Given the description of an element on the screen output the (x, y) to click on. 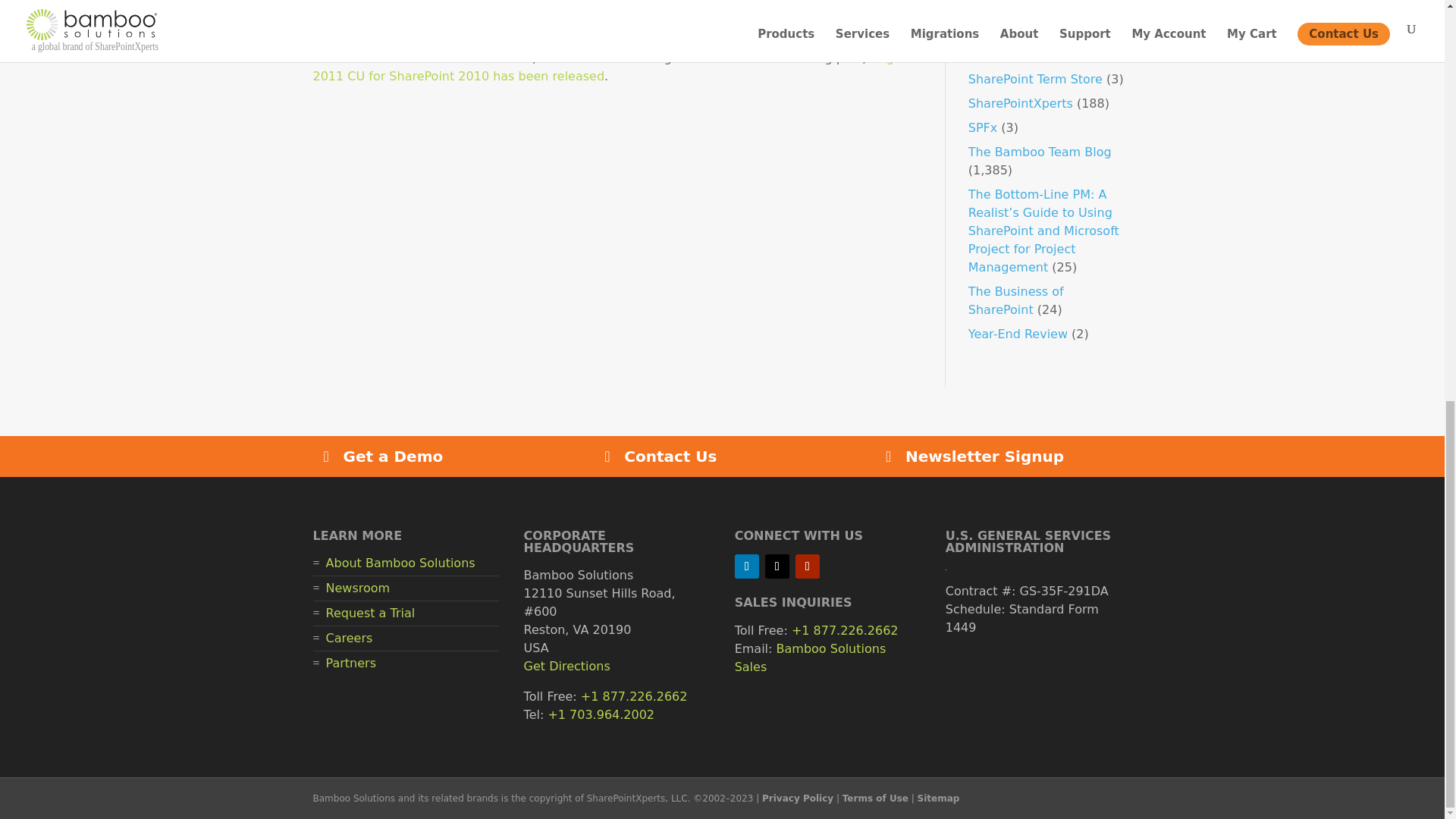
Follow on LinkedIn (746, 566)
Follow on Twitter (777, 566)
Follow on Youtube (806, 566)
